Given the description of an element on the screen output the (x, y) to click on. 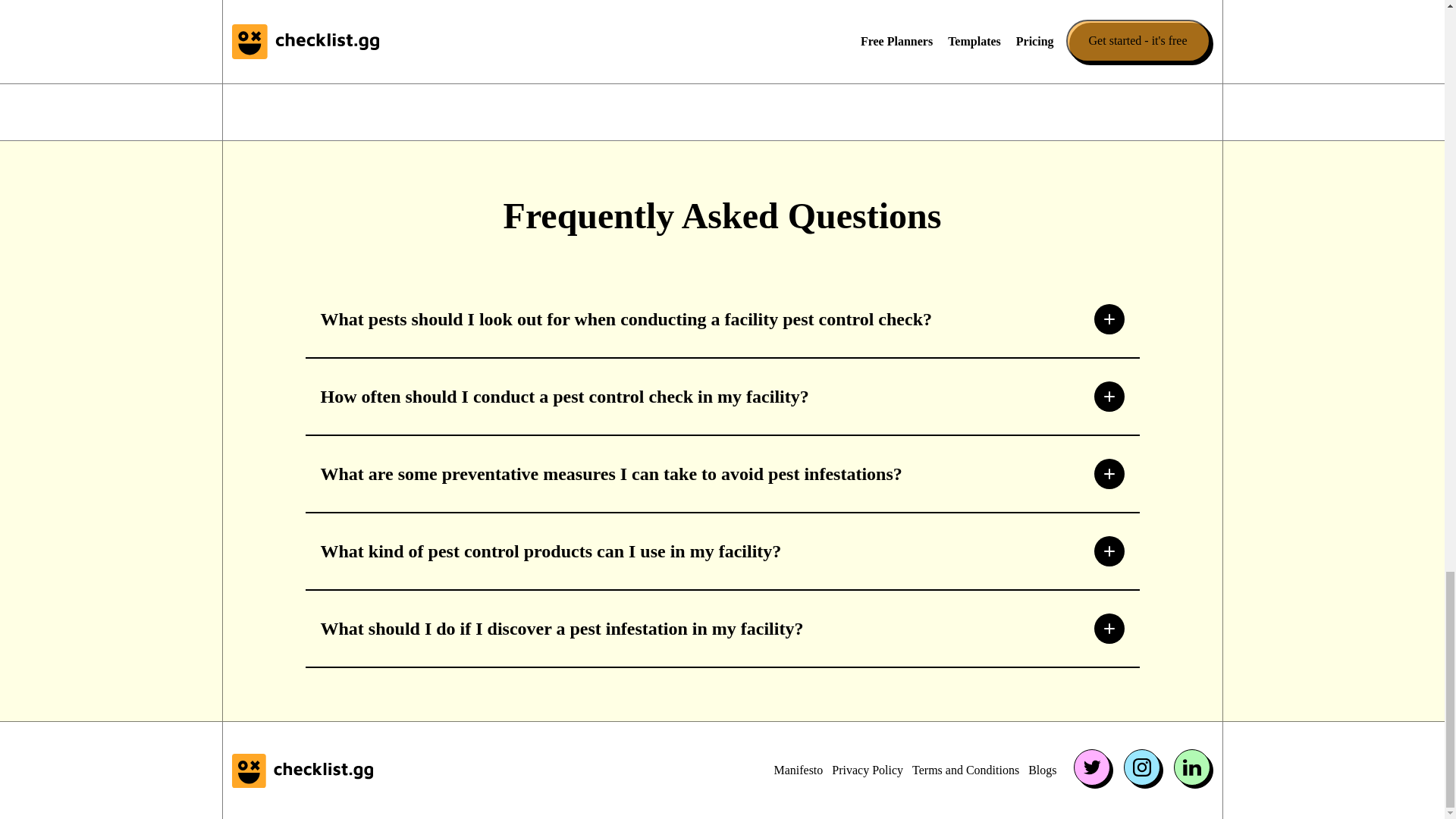
Manifesto (797, 770)
Terms and Conditions (965, 770)
Privacy Policy (866, 770)
Blogs (1042, 770)
